Given the description of an element on the screen output the (x, y) to click on. 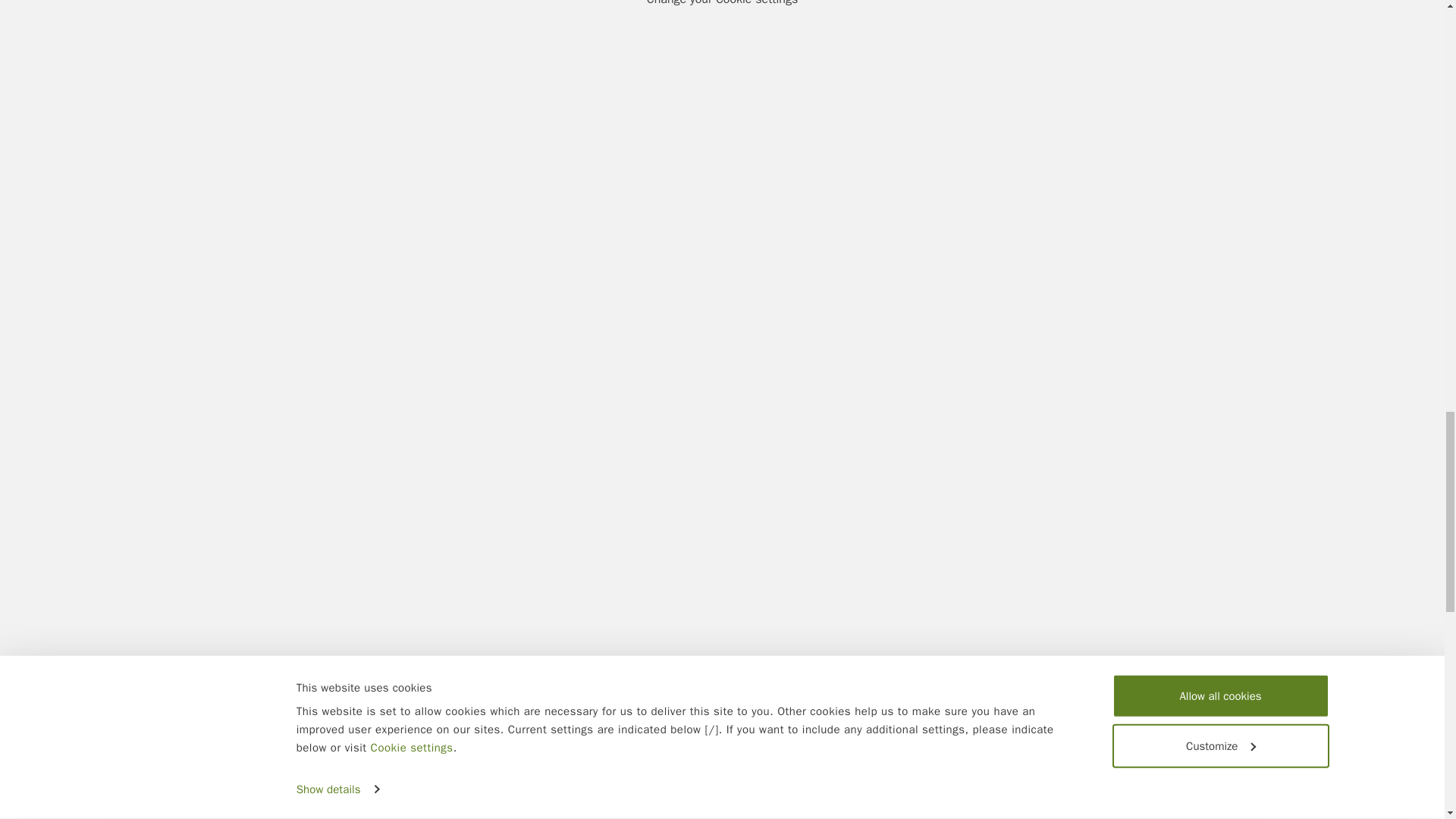
Change your Cookie settings (721, 3)
